Given the description of an element on the screen output the (x, y) to click on. 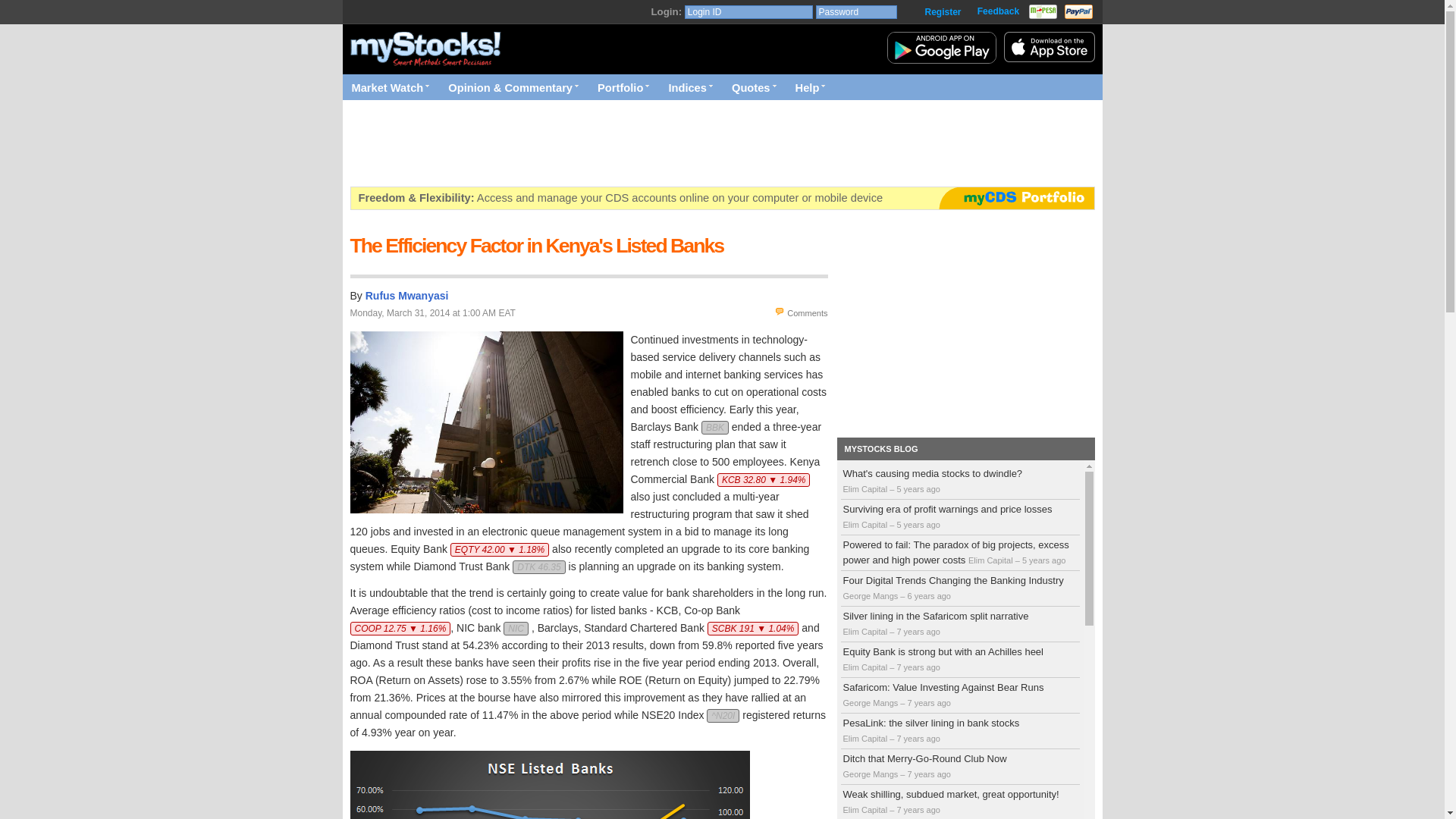
We accept M-PESA on Paybill Number 400100 (1043, 11)
Login ID (748, 11)
Thu Apr 13 2017 6:15:07 PM (917, 666)
Email Feedback (998, 11)
Fri Mar 17 2017 6:15:58 PM (917, 737)
Wed May 03 2017 7:00:26 AM (917, 631)
Thu Mar 23 2017 6:33:30 PM (928, 702)
Wed Mar 15 2017 9:00:36 PM (928, 773)
Feedback (998, 11)
Help (809, 86)
BBK (715, 427)
DTK 46.35 (538, 567)
Wed Feb 06 2019 7:15:34 PM (917, 524)
Fri Feb 22 2019 7:30:48 PM (917, 488)
Register (942, 11)
